Given the description of an element on the screen output the (x, y) to click on. 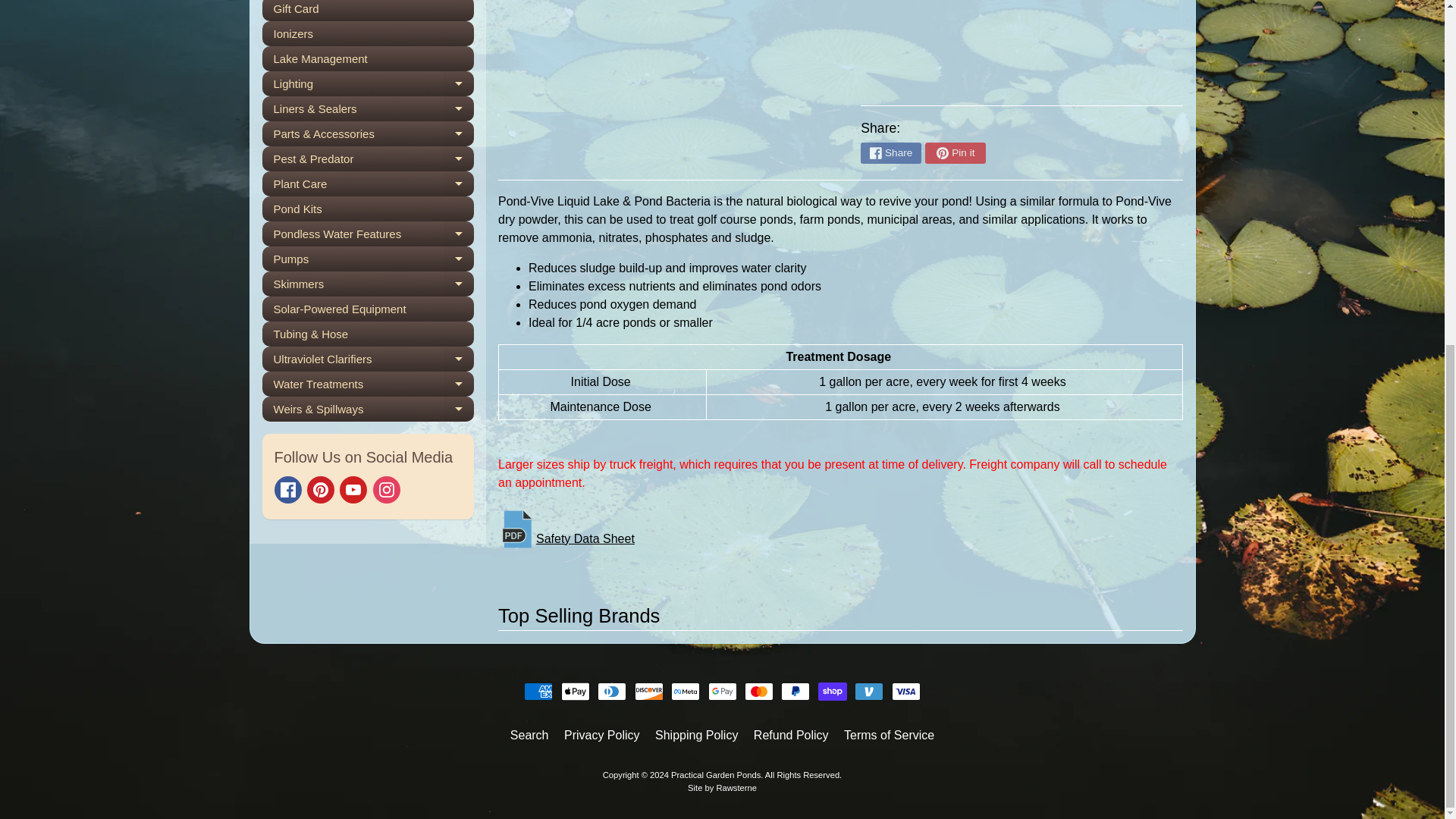
Pin on Pinterest (954, 152)
Shopify theme by Rawsterne (722, 787)
Diners Club (611, 691)
Youtube (352, 489)
Apple Pay (574, 691)
Facebook (288, 489)
PayPal (794, 691)
Meta Pay (685, 691)
Instagram (386, 489)
American Express (538, 691)
